Given the description of an element on the screen output the (x, y) to click on. 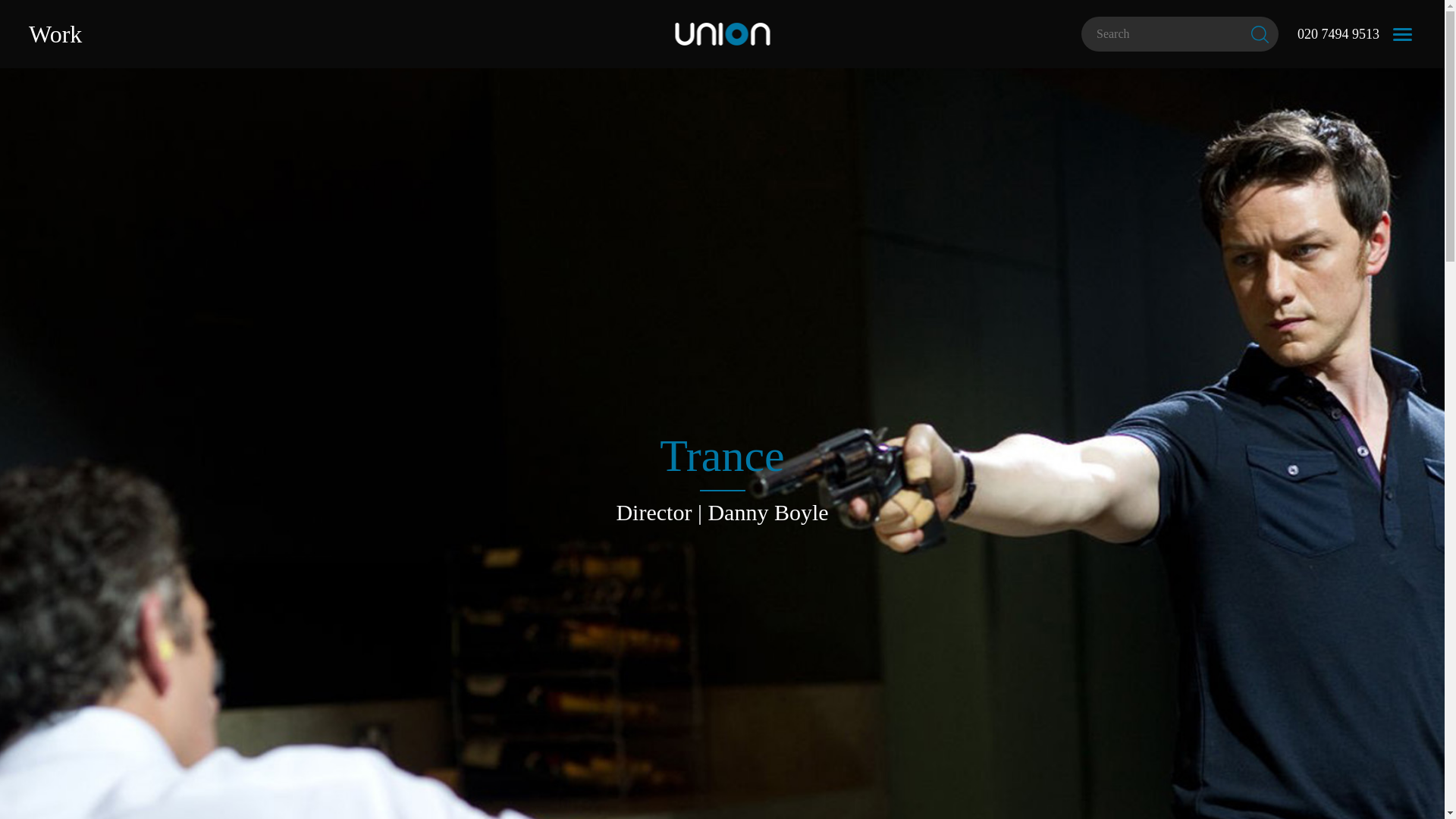
Work (55, 33)
